Given the description of an element on the screen output the (x, y) to click on. 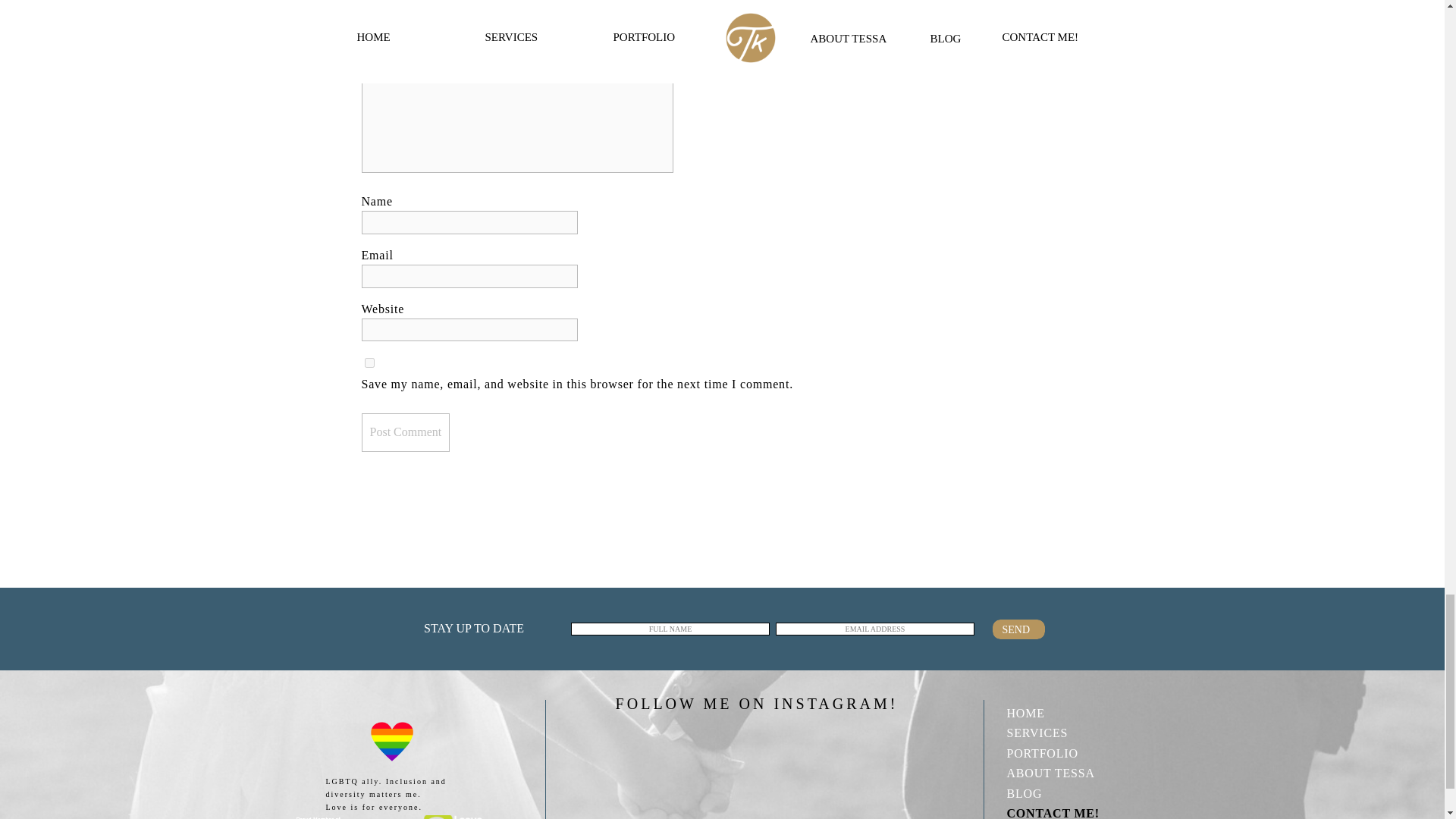
ABOUT TESSA (1064, 772)
CONTACT ME! (1064, 811)
Post Comment (405, 432)
Post Comment (405, 432)
FOLLOW ME ON INSTAGRAM! (756, 700)
HOME (1064, 711)
BLOG (1064, 792)
SERVICES (1064, 732)
PORTFOLIO (1064, 752)
yes (369, 362)
